Given the description of an element on the screen output the (x, y) to click on. 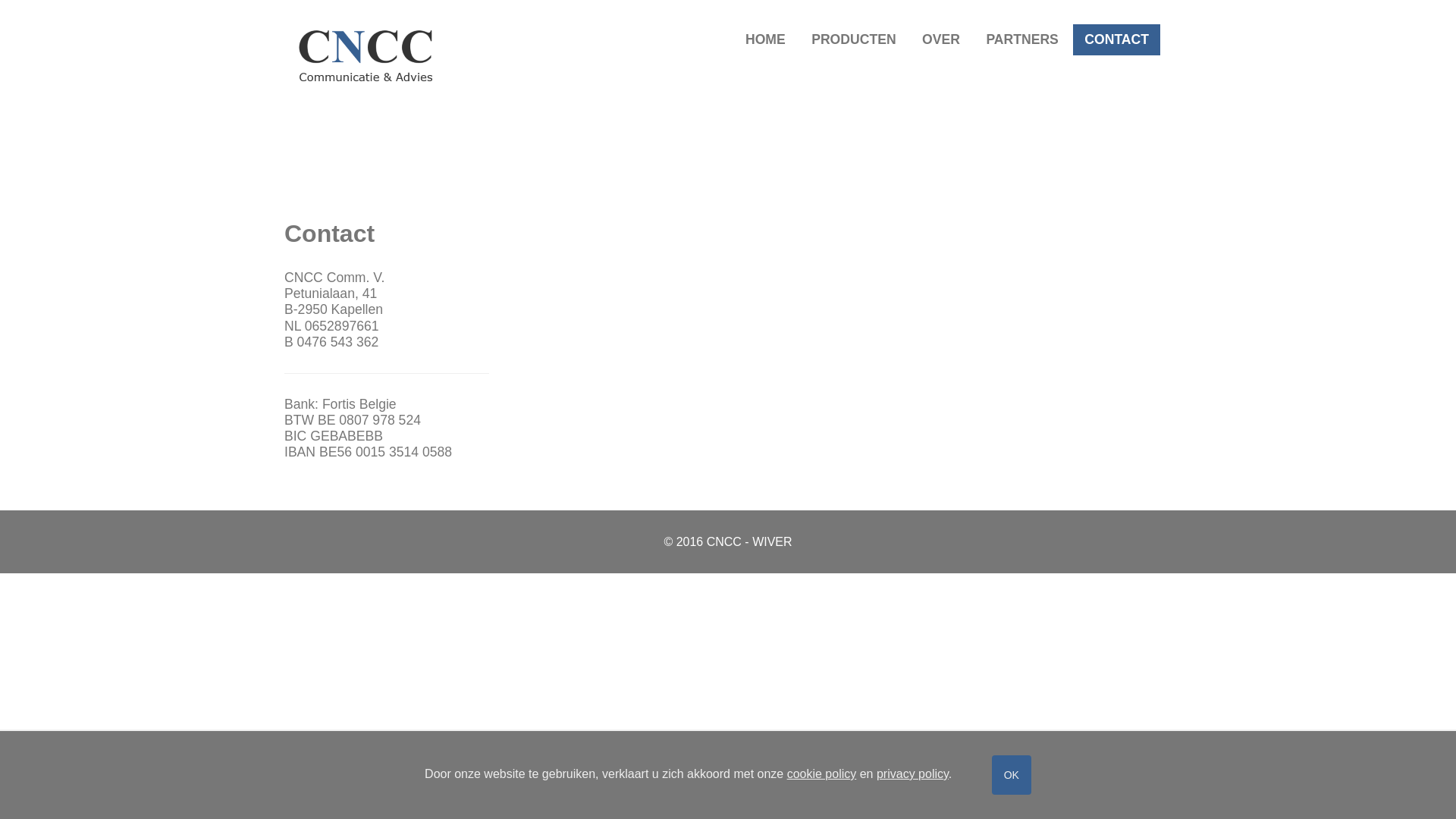
privacy policy Element type: text (912, 773)
cookie policy Element type: text (821, 773)
OVER Element type: text (940, 39)
PRODUCTEN Element type: text (853, 39)
WIVER Element type: text (771, 541)
PARTNERS Element type: text (1021, 39)
CONTACT Element type: text (1116, 39)
HOME Element type: text (765, 39)
CNCC Element type: hover (365, 56)
